Given the description of an element on the screen output the (x, y) to click on. 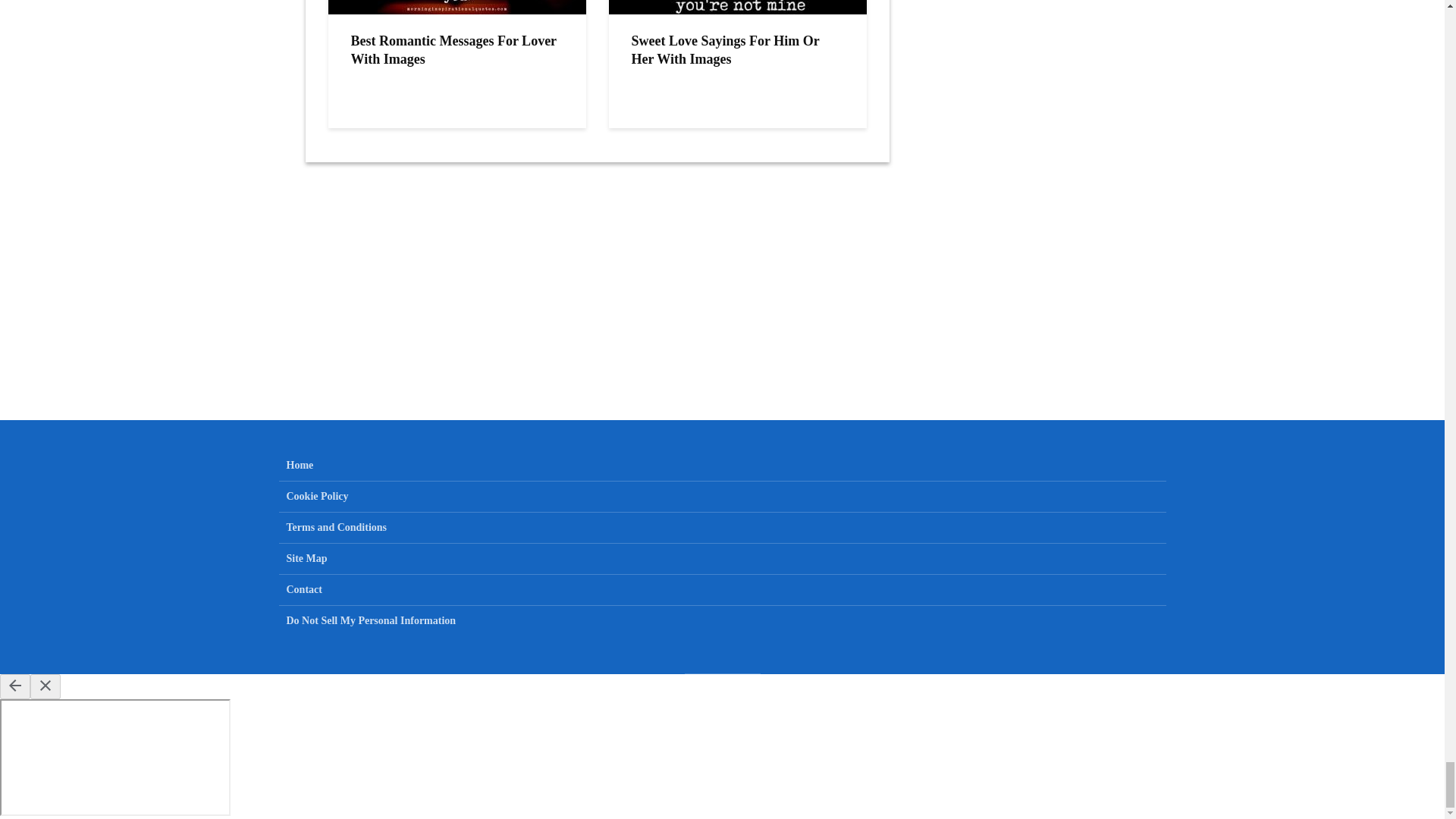
Sweet Love Sayings For Him Or Her With Images (736, 49)
Best Romantic Messages For Lover With Images (456, 49)
